Given the description of an element on the screen output the (x, y) to click on. 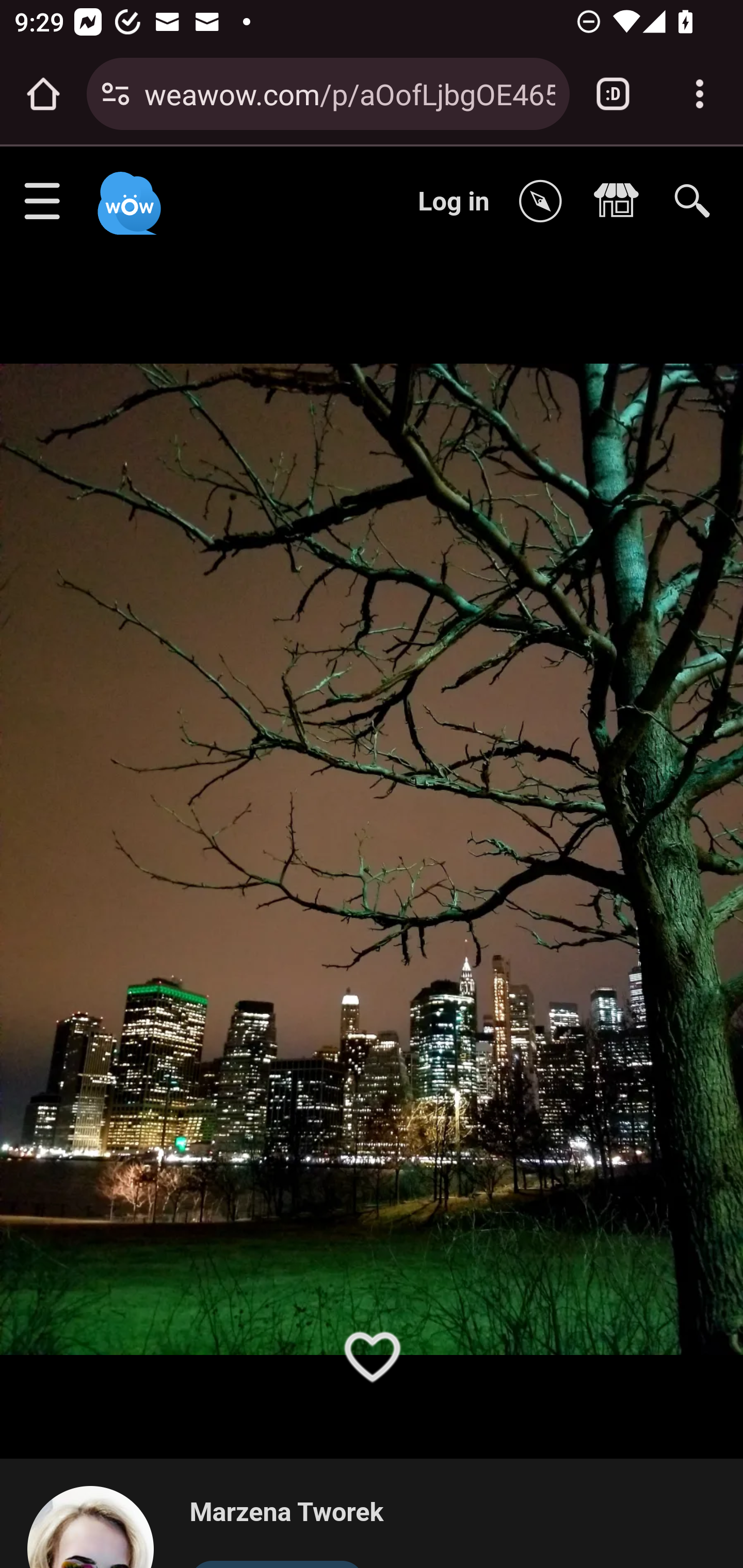
Open the home page (43, 93)
Connection is secure (115, 93)
Switch or close tabs (612, 93)
Customize and control Google Chrome (699, 93)
weawow.com/p/aOofLjbgOE46530 (349, 92)
Weawow (127, 194)
 (545, 201)
 (621, 201)
Log in (453, 201)
Marzena Tworek (285, 1513)
